Given the description of an element on the screen output the (x, y) to click on. 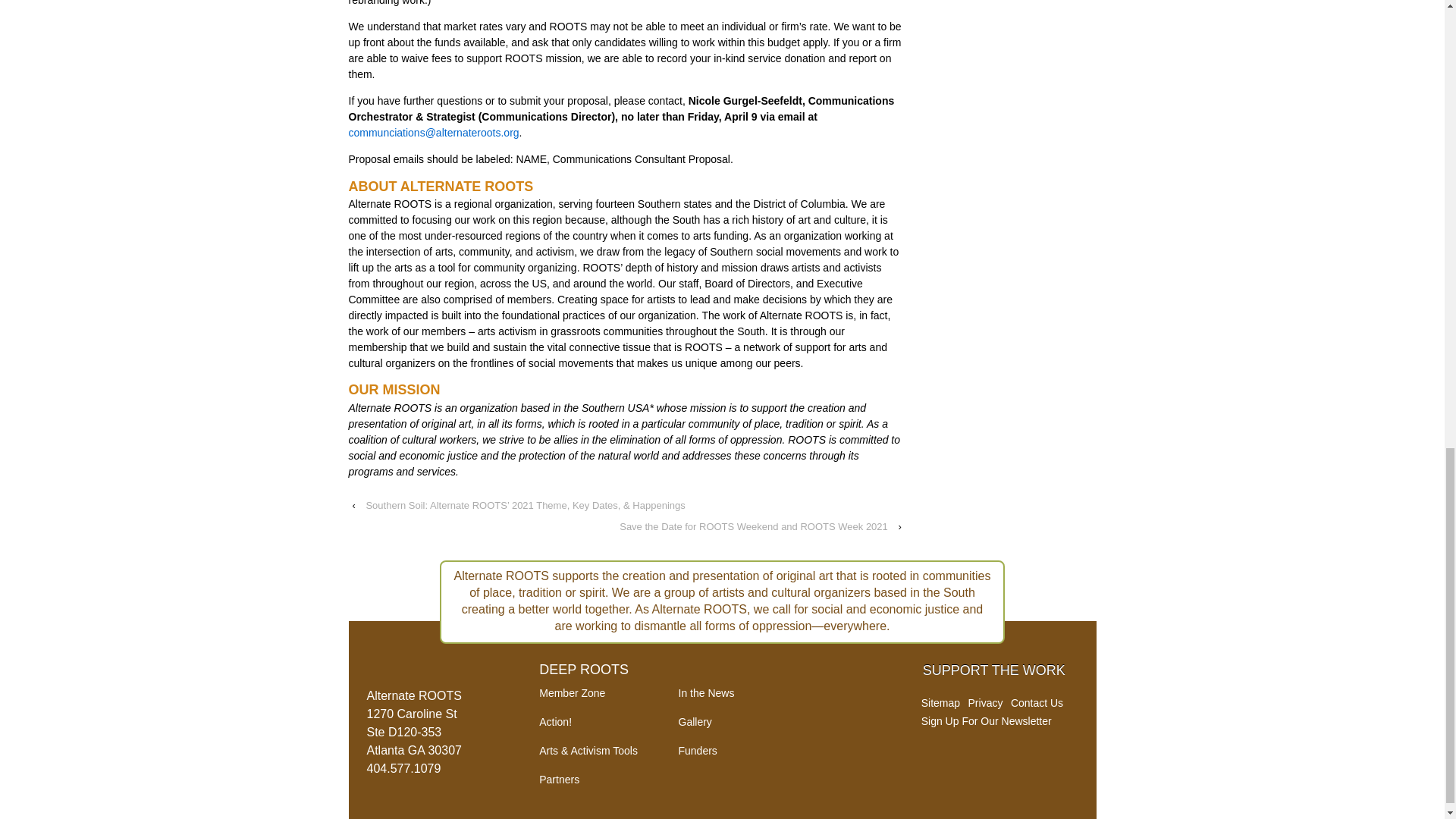
SUPPORT THE WORK (994, 670)
Sign Up For Our Newsletter (986, 720)
Privacy (985, 702)
Funders (697, 750)
Save the Date for ROOTS Weekend and ROOTS Week 2021 (753, 526)
Member Zone (571, 693)
In the News (705, 693)
Sitemap (940, 702)
Action! (555, 721)
Partners (558, 779)
Contact Us (1036, 702)
Gallery (694, 721)
